Given the description of an element on the screen output the (x, y) to click on. 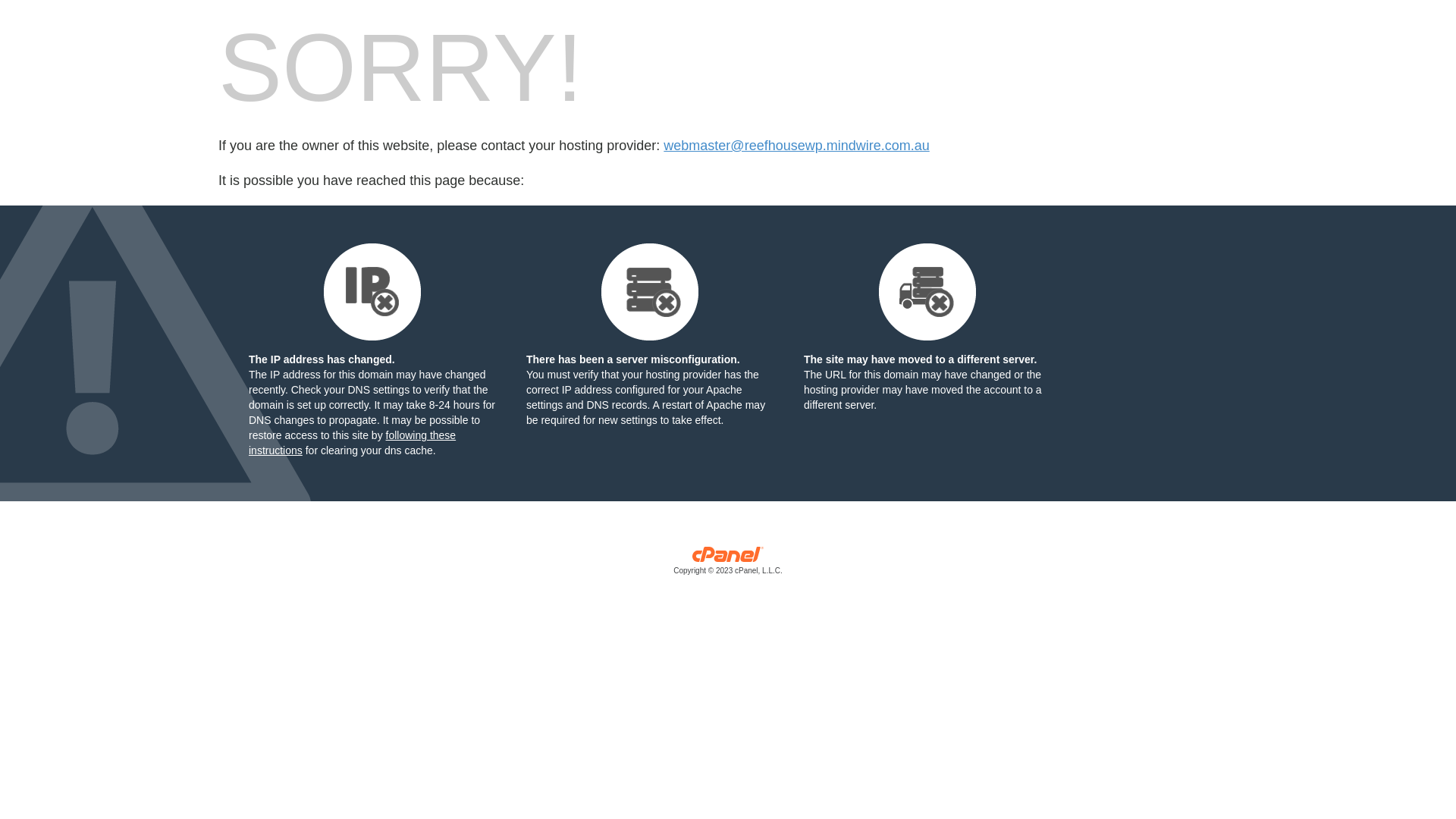
following these instructions Element type: text (351, 442)
webmaster@reefhousewp.mindwire.com.au Element type: text (795, 145)
